Given the description of an element on the screen output the (x, y) to click on. 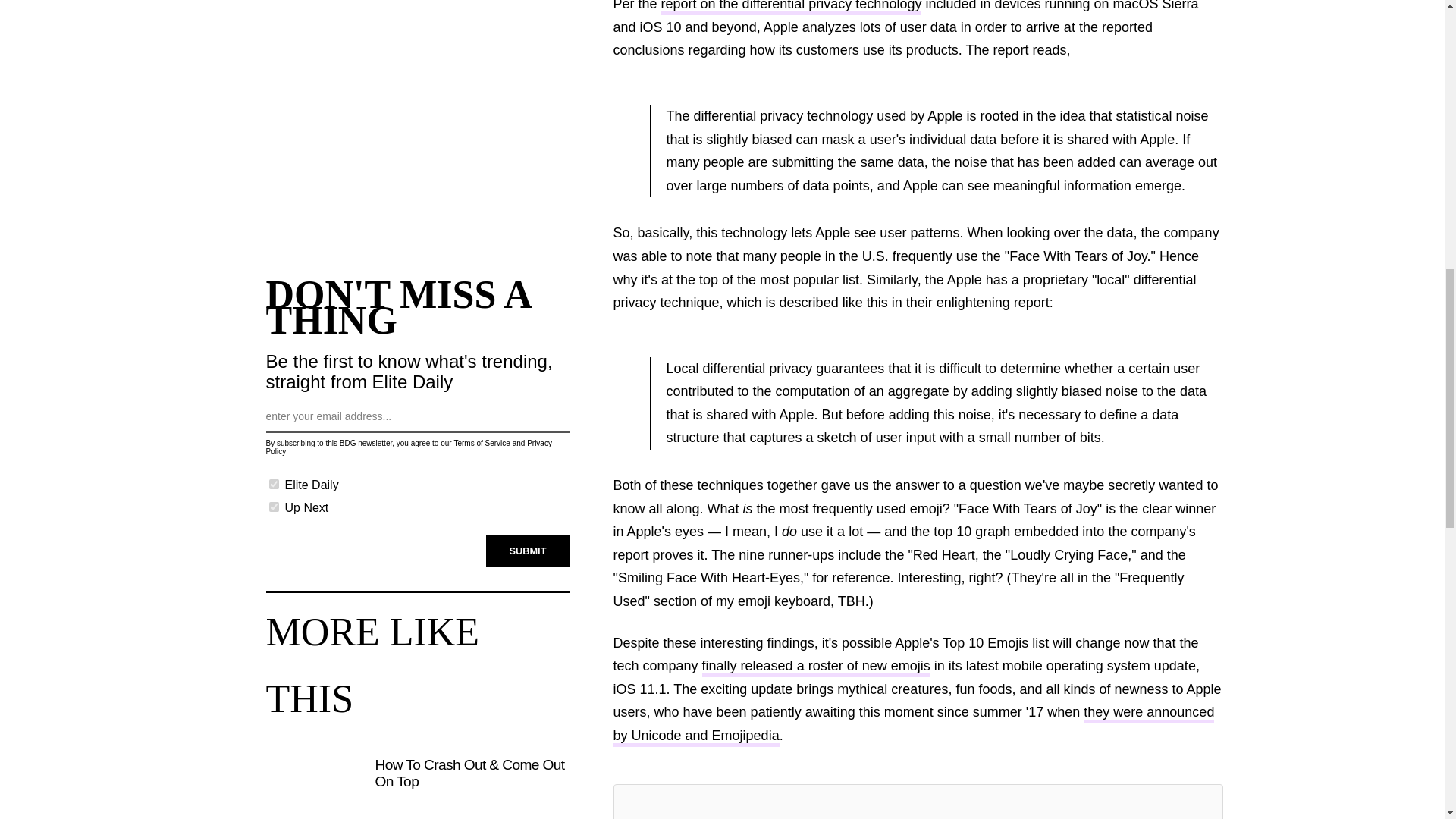
they were announced by Unicode and Emojipedia (913, 725)
Privacy Policy (407, 446)
report on the differential privacy technology (791, 7)
SUBMIT (527, 551)
finally released a roster of new emojis (815, 667)
Terms of Service (480, 442)
